Given the description of an element on the screen output the (x, y) to click on. 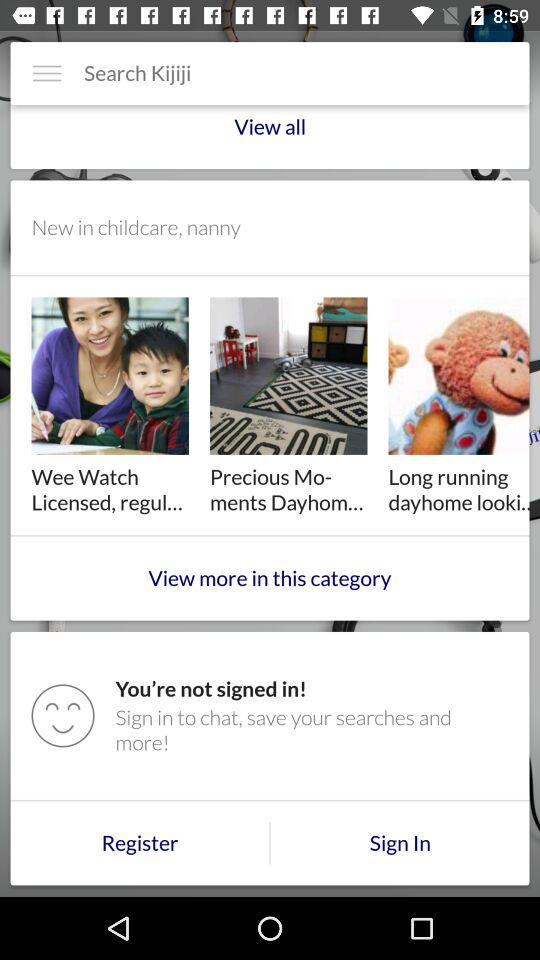
jump to the view all icon (269, 135)
